Given the description of an element on the screen output the (x, y) to click on. 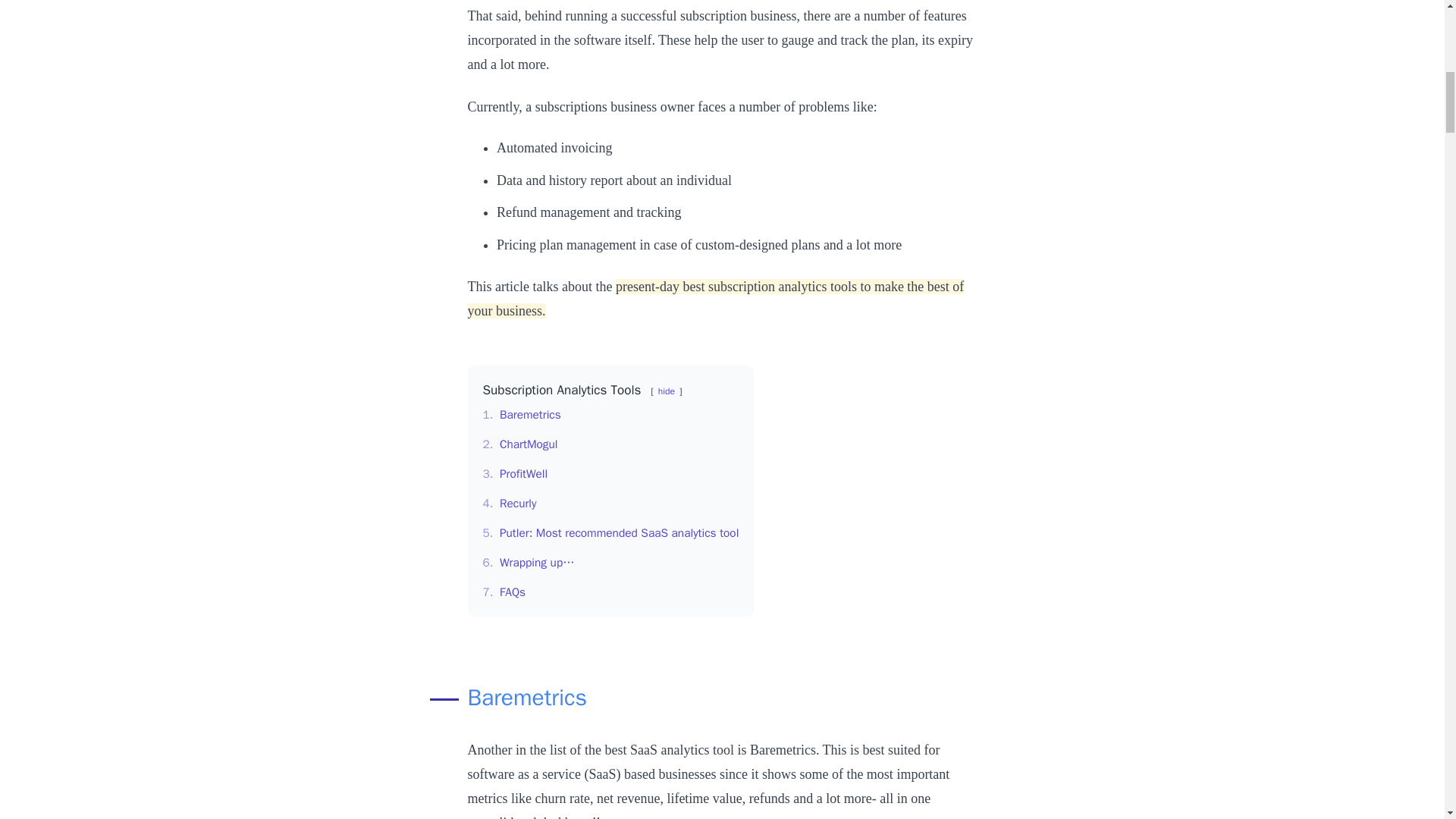
7. FAQs (503, 591)
4. Recurly (508, 503)
5. Putler: Most recommended SaaS analytics tool (609, 532)
1. Baremetrics (520, 414)
2. ChartMogul (519, 444)
3. ProfitWell (514, 473)
hide (666, 390)
